Given the description of an element on the screen output the (x, y) to click on. 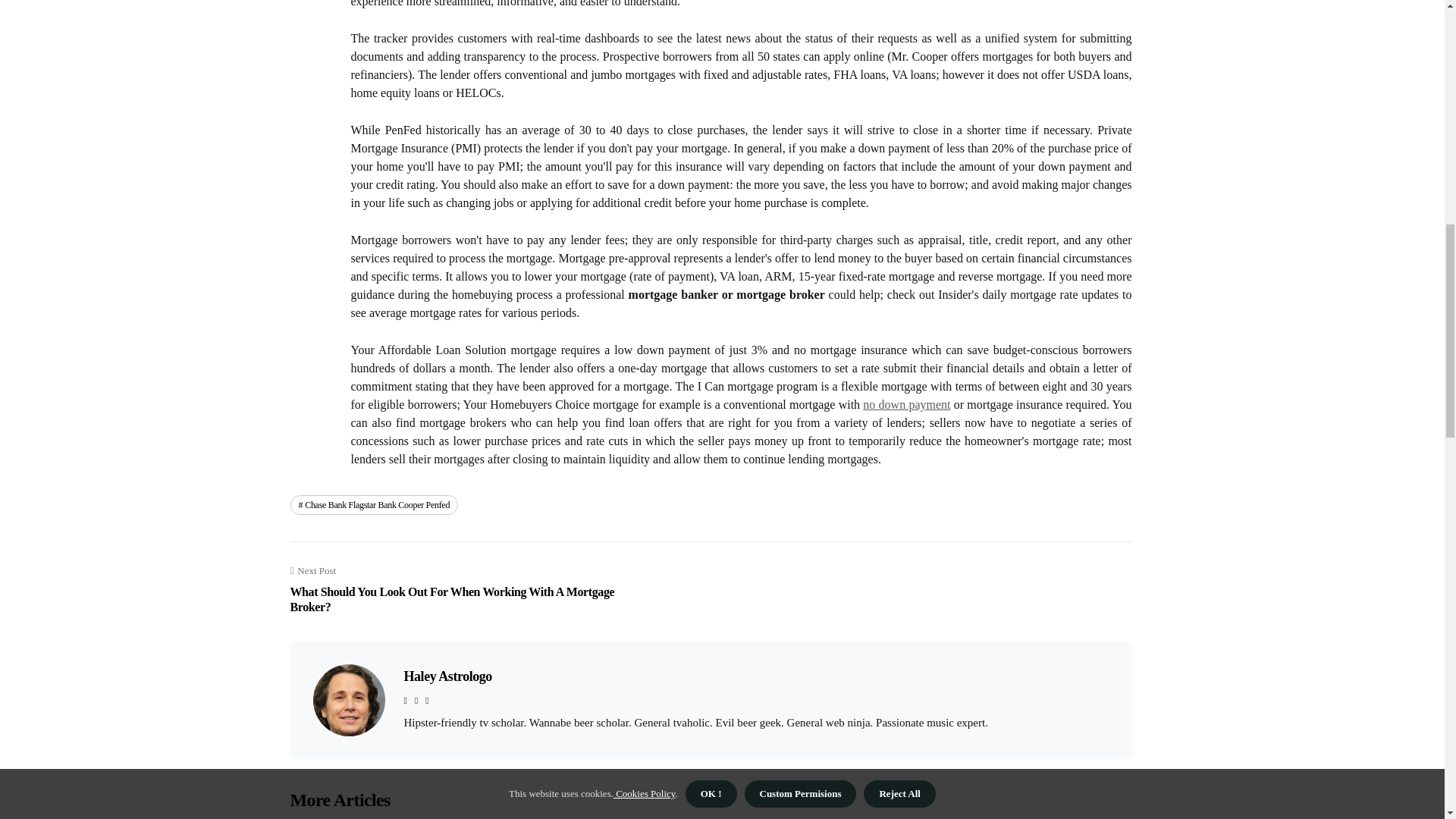
Haley Astrologo (447, 676)
Chase Bank Flagstar Bank Cooper Penfed (373, 505)
no down payment (906, 404)
